Given the description of an element on the screen output the (x, y) to click on. 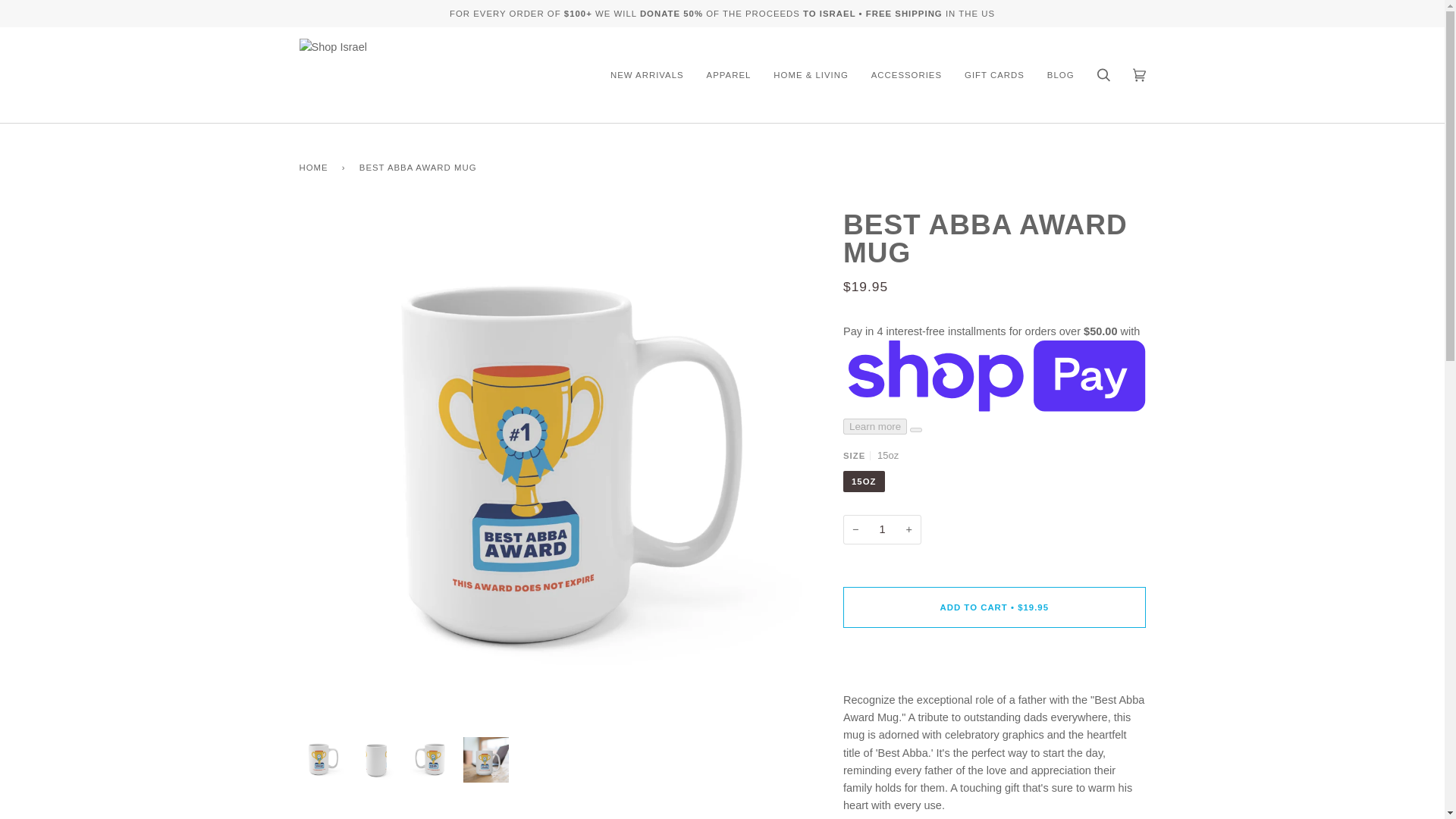
1 (882, 529)
NEW ARRIVALS (646, 74)
ACCESSORIES (906, 74)
Back to the frontpage (315, 167)
